Given the description of an element on the screen output the (x, y) to click on. 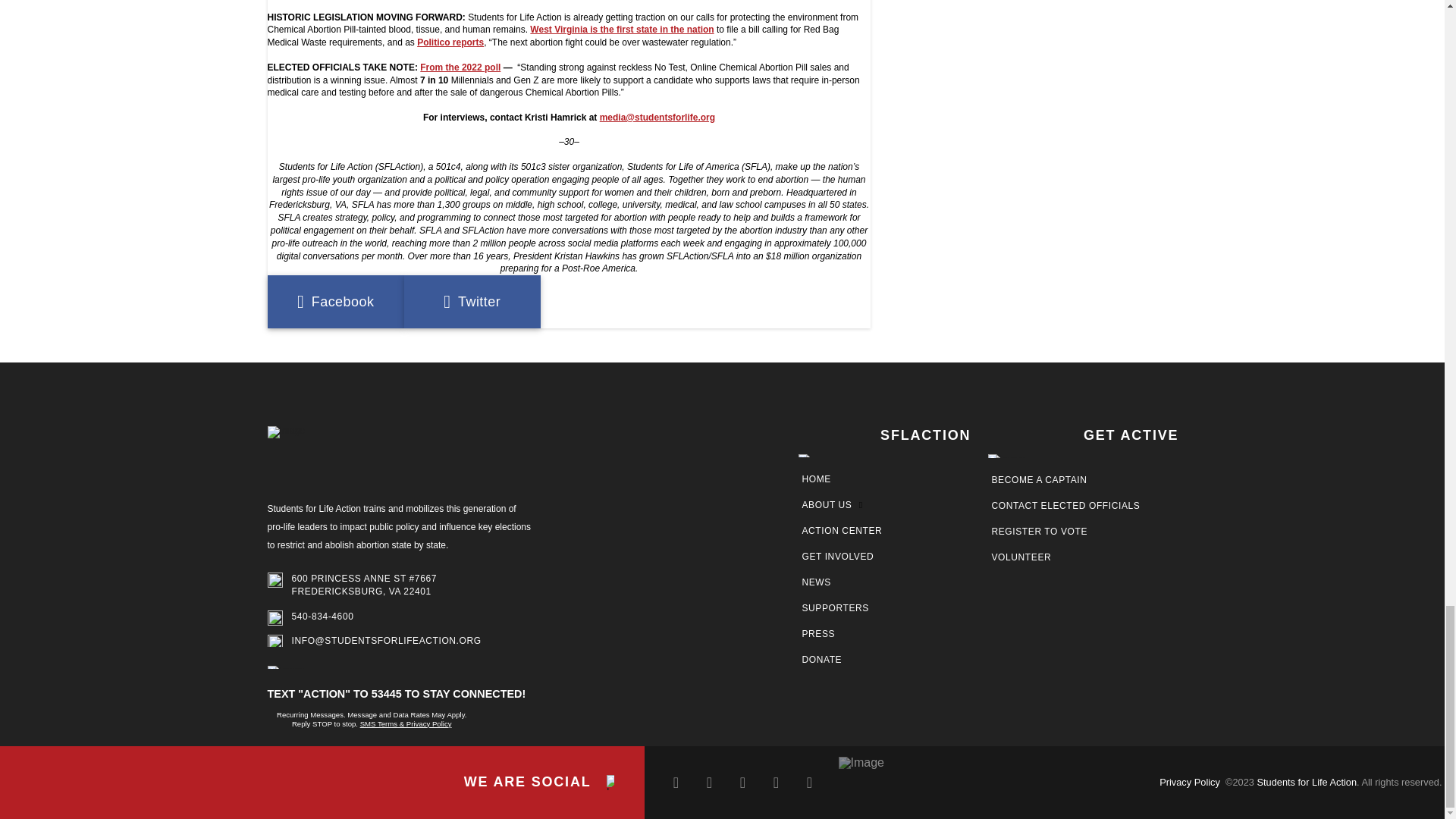
Twitter (471, 301)
Facebook (334, 301)
West Virginia is the first state in the nation (621, 29)
Politico reports (449, 41)
From the 2022 poll (460, 67)
